Given the description of an element on the screen output the (x, y) to click on. 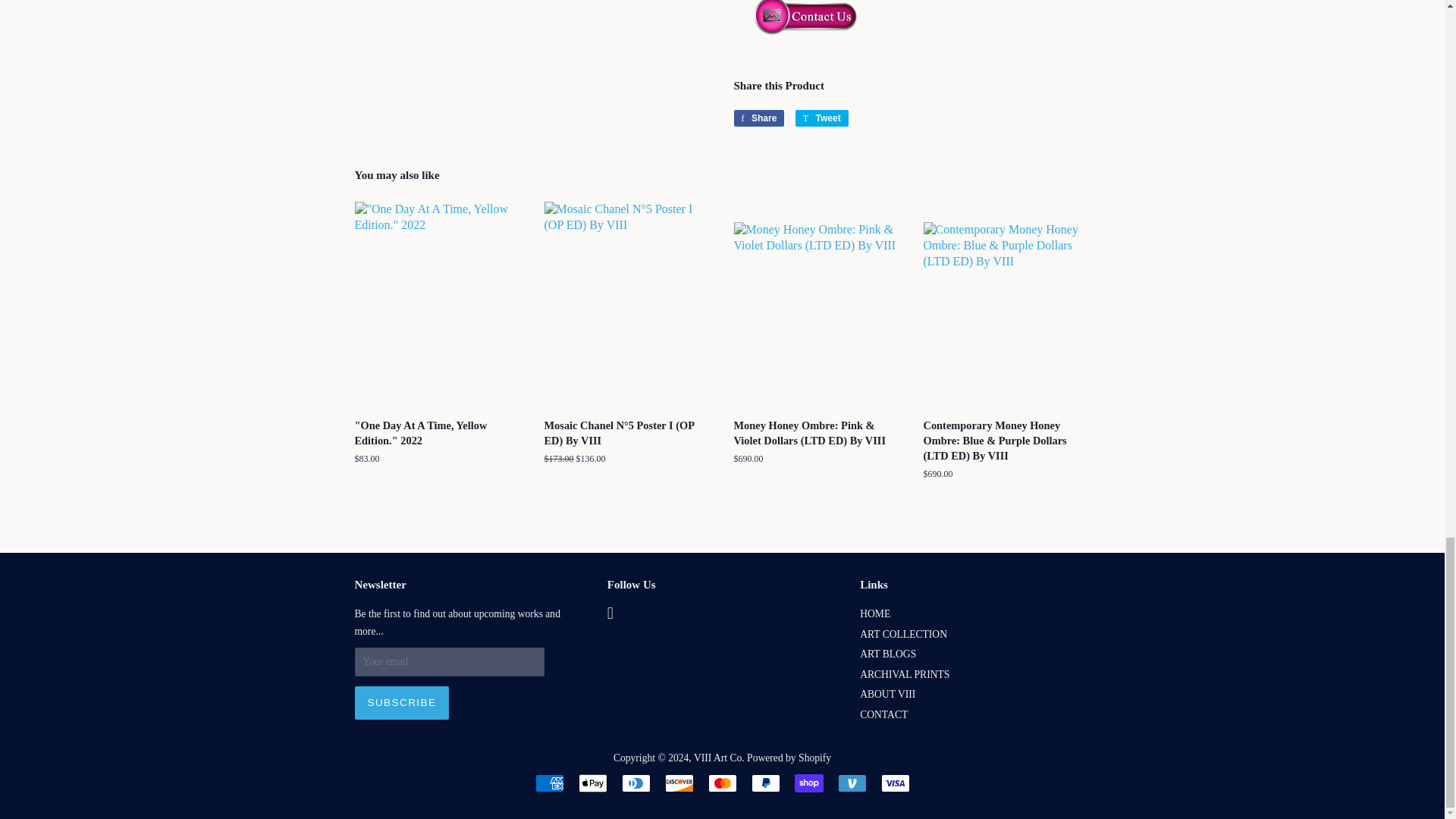
Tweet on Twitter (821, 117)
Venmo (851, 782)
Discover (678, 782)
Mastercard (721, 782)
American Express (549, 782)
Diners Club (635, 782)
PayPal (764, 782)
Subscribe (402, 702)
Visa (895, 782)
Shop Pay (809, 782)
